Given the description of an element on the screen output the (x, y) to click on. 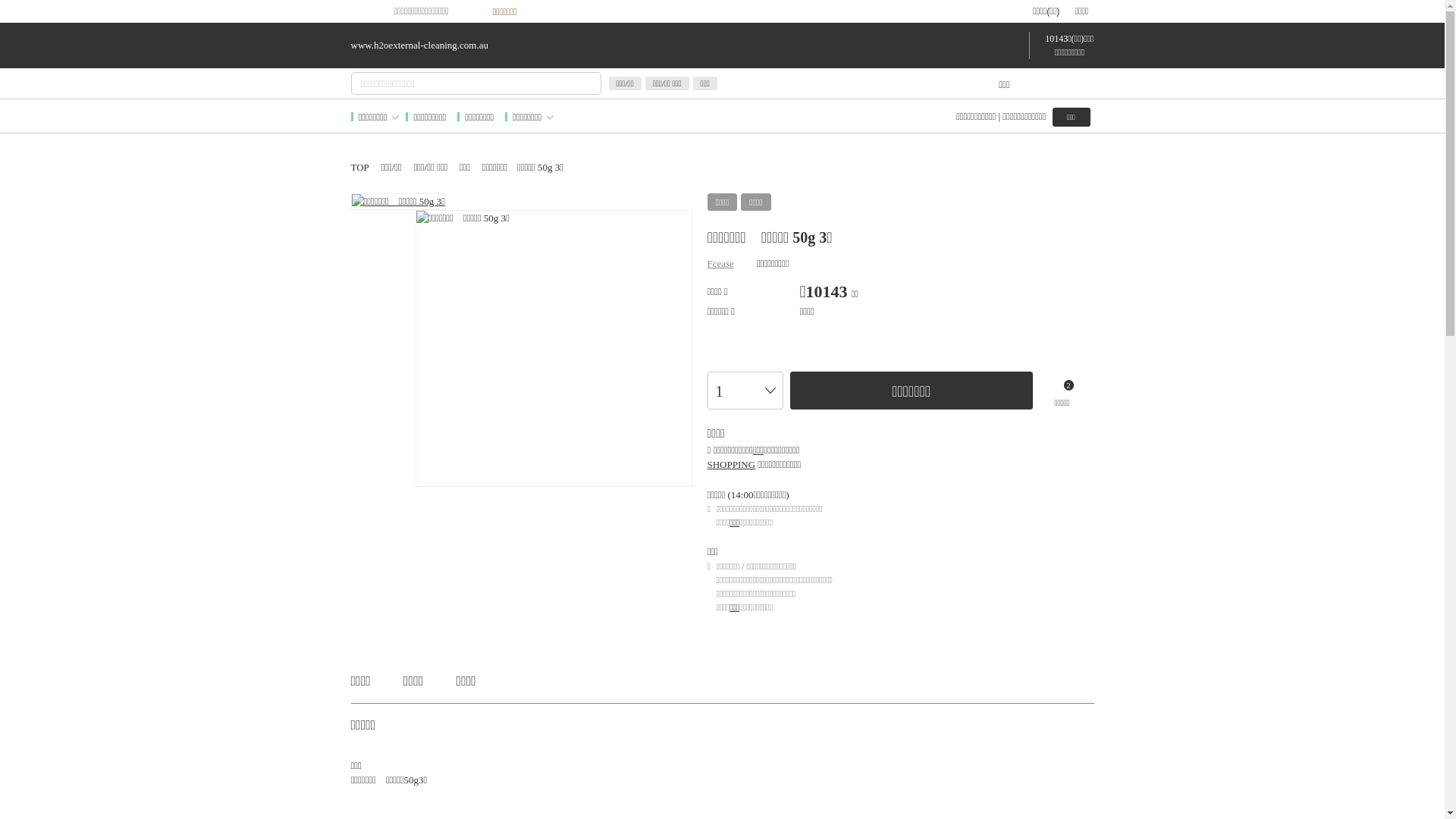
TOP Element type: text (359, 166)
Fcease Element type: text (719, 263)
SHOPPING Element type: text (730, 464)
  Element type: text (794, 260)
